Given the description of an element on the screen output the (x, y) to click on. 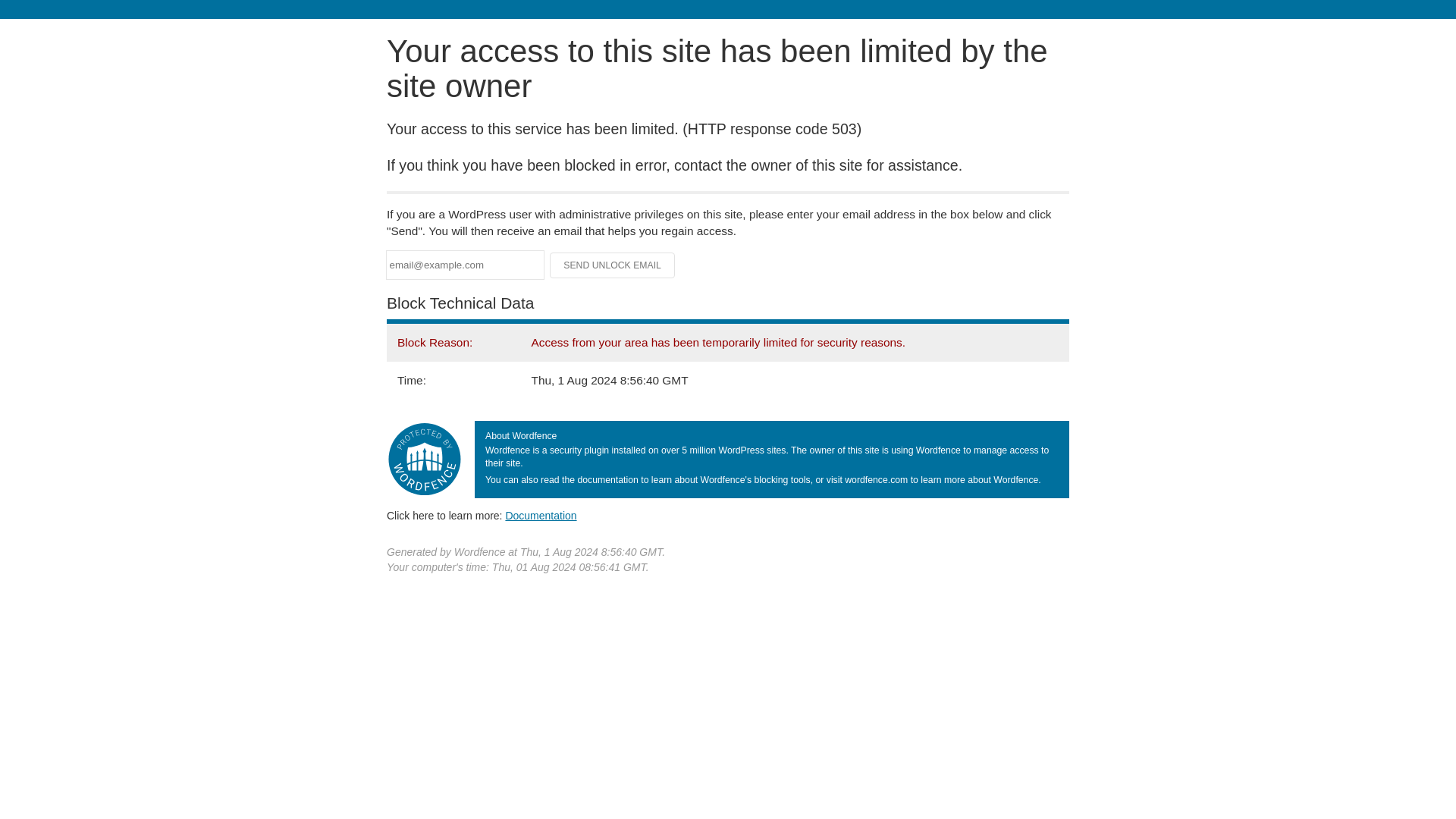
Send Unlock Email (612, 265)
Send Unlock Email (612, 265)
Documentation (540, 515)
